Given the description of an element on the screen output the (x, y) to click on. 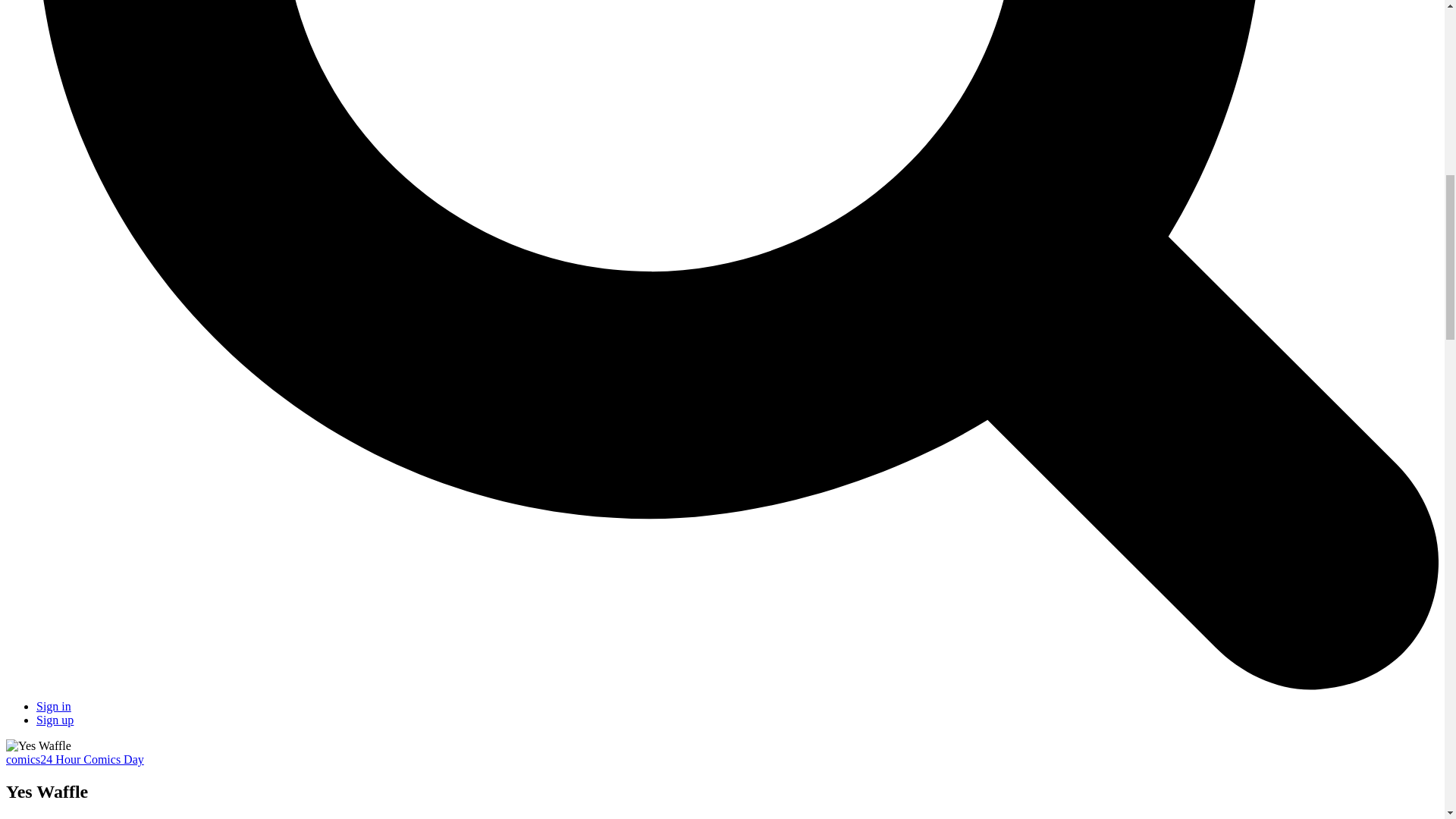
24 Hour Comics Day (91, 758)
Sign up (55, 719)
Sign in (53, 706)
comics (22, 758)
